Given the description of an element on the screen output the (x, y) to click on. 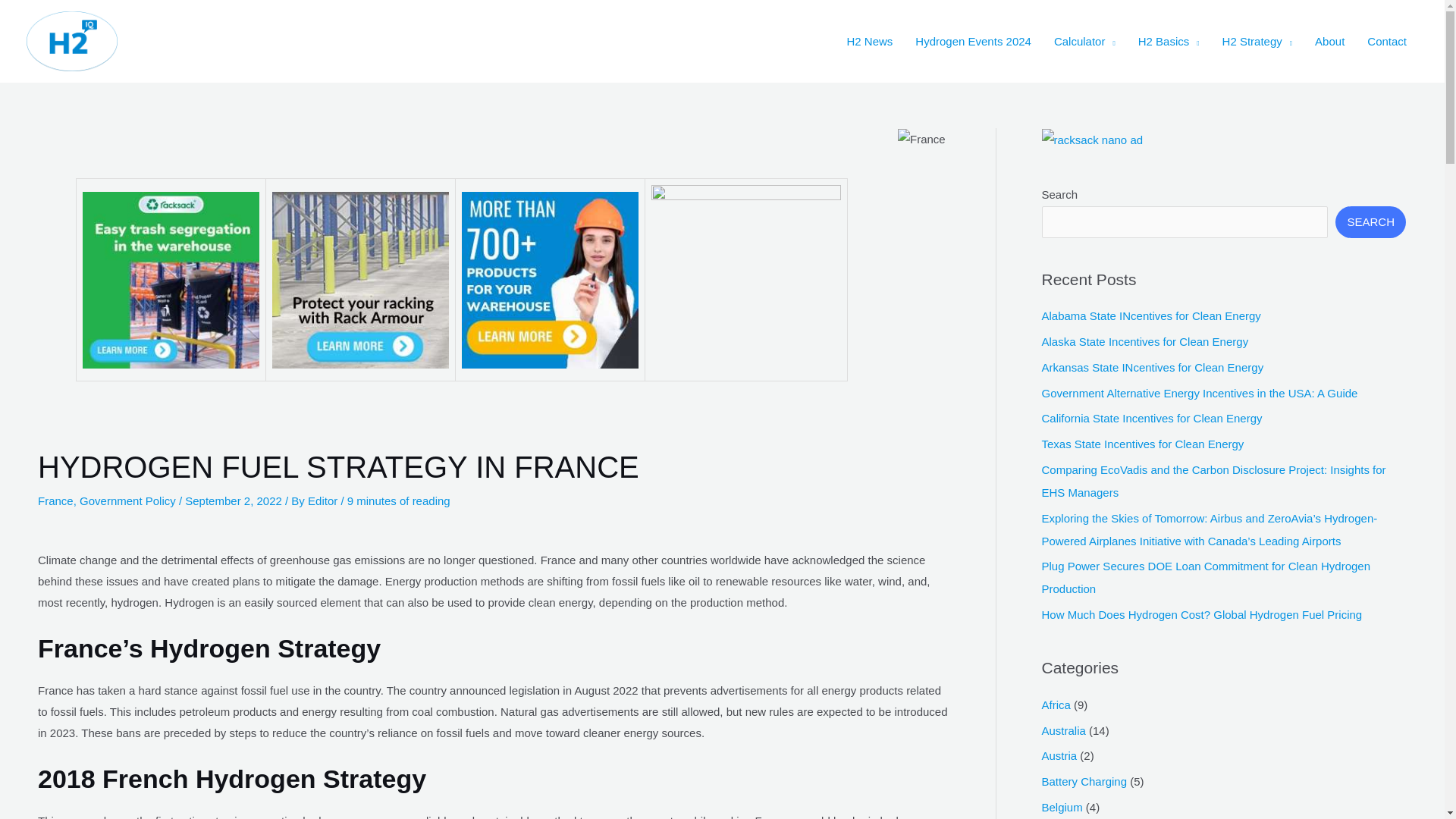
About (1329, 41)
H2 Strategy (1257, 41)
H2 News (869, 41)
H2 Basics (1168, 41)
Contact (1386, 41)
Calculator (1084, 41)
View all posts by Editor (323, 500)
Hydrogen Events 2024 (973, 41)
